Given the description of an element on the screen output the (x, y) to click on. 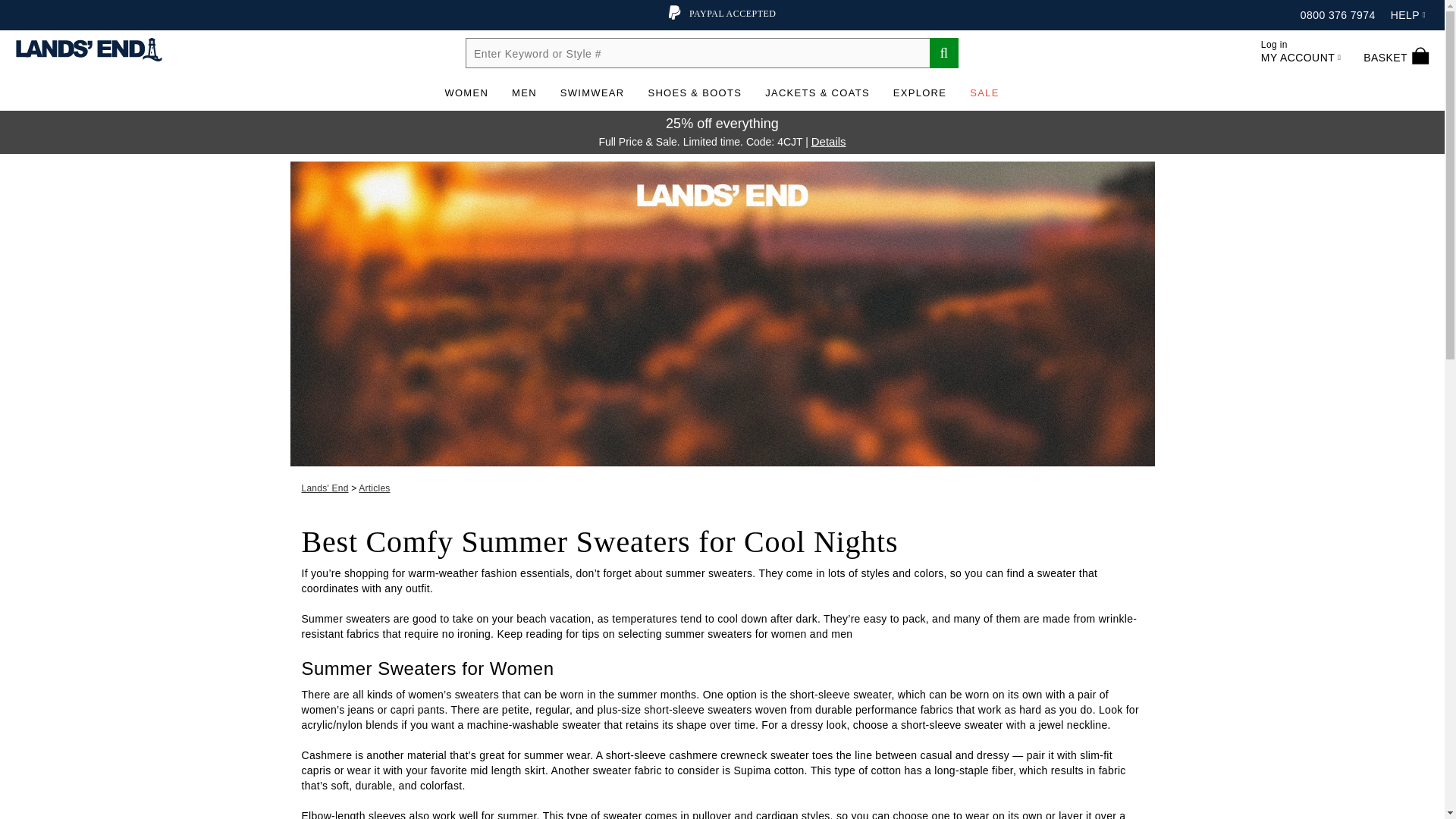
HELP (1407, 15)
BASKET (1396, 52)
PAYPAL ACCEPTED (1300, 51)
0800 376 7974 (722, 13)
WOMEN (1337, 15)
